Given the description of an element on the screen output the (x, y) to click on. 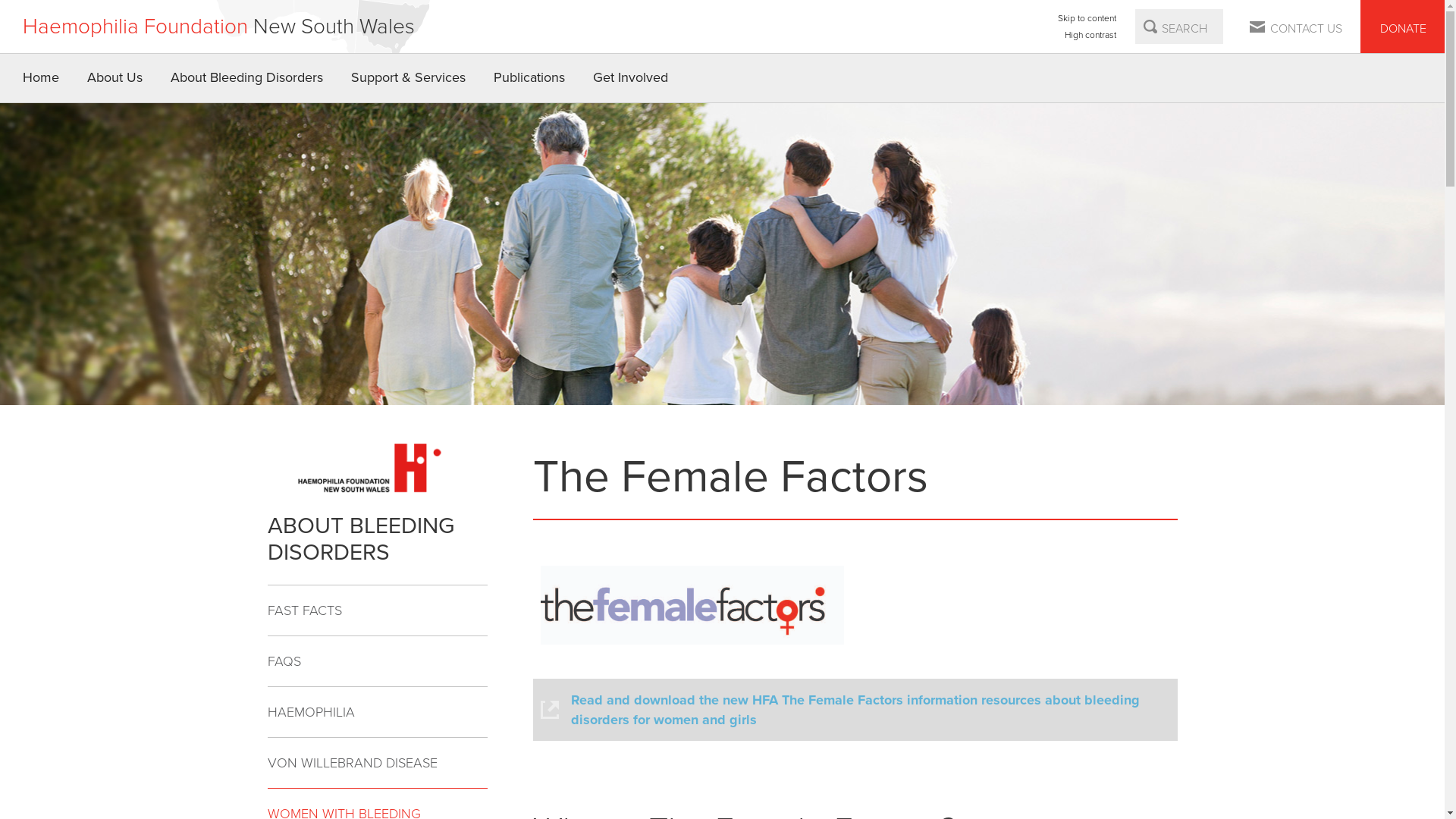
High contrast Element type: text (1086, 34)
VON WILLEBRAND DISEASE Element type: text (376, 762)
Search Element type: text (1150, 26)
Home Element type: text (41, 77)
About Us Element type: text (114, 77)
About Bleeding Disorders Element type: text (246, 77)
Skip to content Element type: text (1086, 17)
Get Involved Element type: text (630, 77)
FAST FACTS Element type: text (376, 610)
FAQS Element type: text (376, 661)
CONTACT US Element type: text (1296, 26)
Publications Element type: text (529, 77)
DONATE Element type: text (1402, 26)
HAEMOPHILIA Element type: text (376, 712)
Support & Services Element type: text (408, 77)
